Given the description of an element on the screen output the (x, y) to click on. 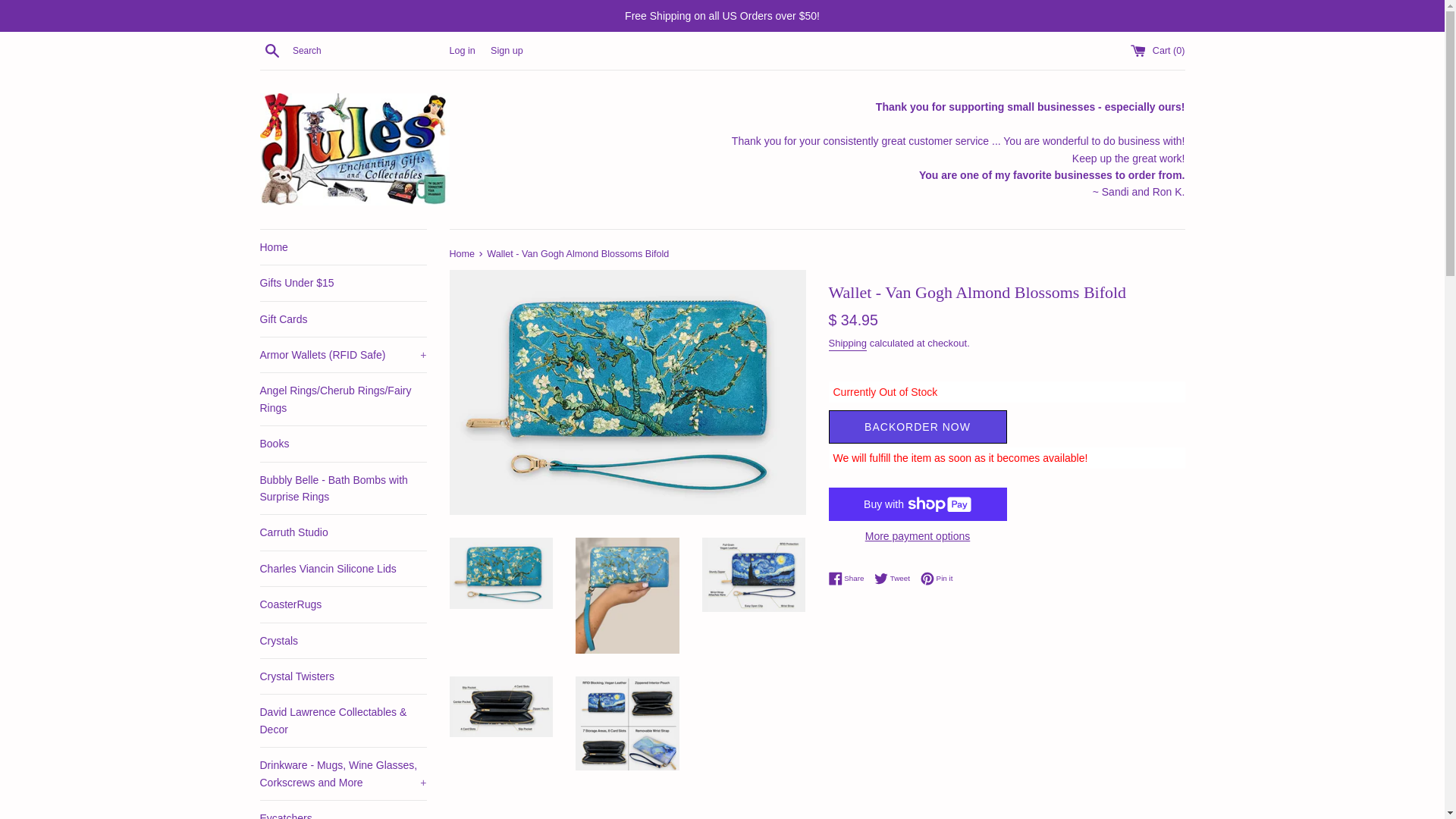
Bubbly Belle - Bath Bombs with Surprise Rings (342, 488)
Books (342, 443)
Log in (461, 50)
Tweet on Twitter (896, 578)
Back to the frontpage (462, 253)
Share on Facebook (849, 578)
Home (342, 247)
CoasterRugs (342, 604)
Gift Cards (342, 319)
Crystals (342, 640)
Crystal Twisters (342, 676)
Charles Viancin Silicone Lids (342, 568)
Search (271, 49)
Eycatchers (342, 809)
Pin on Pinterest (936, 578)
